Given the description of an element on the screen output the (x, y) to click on. 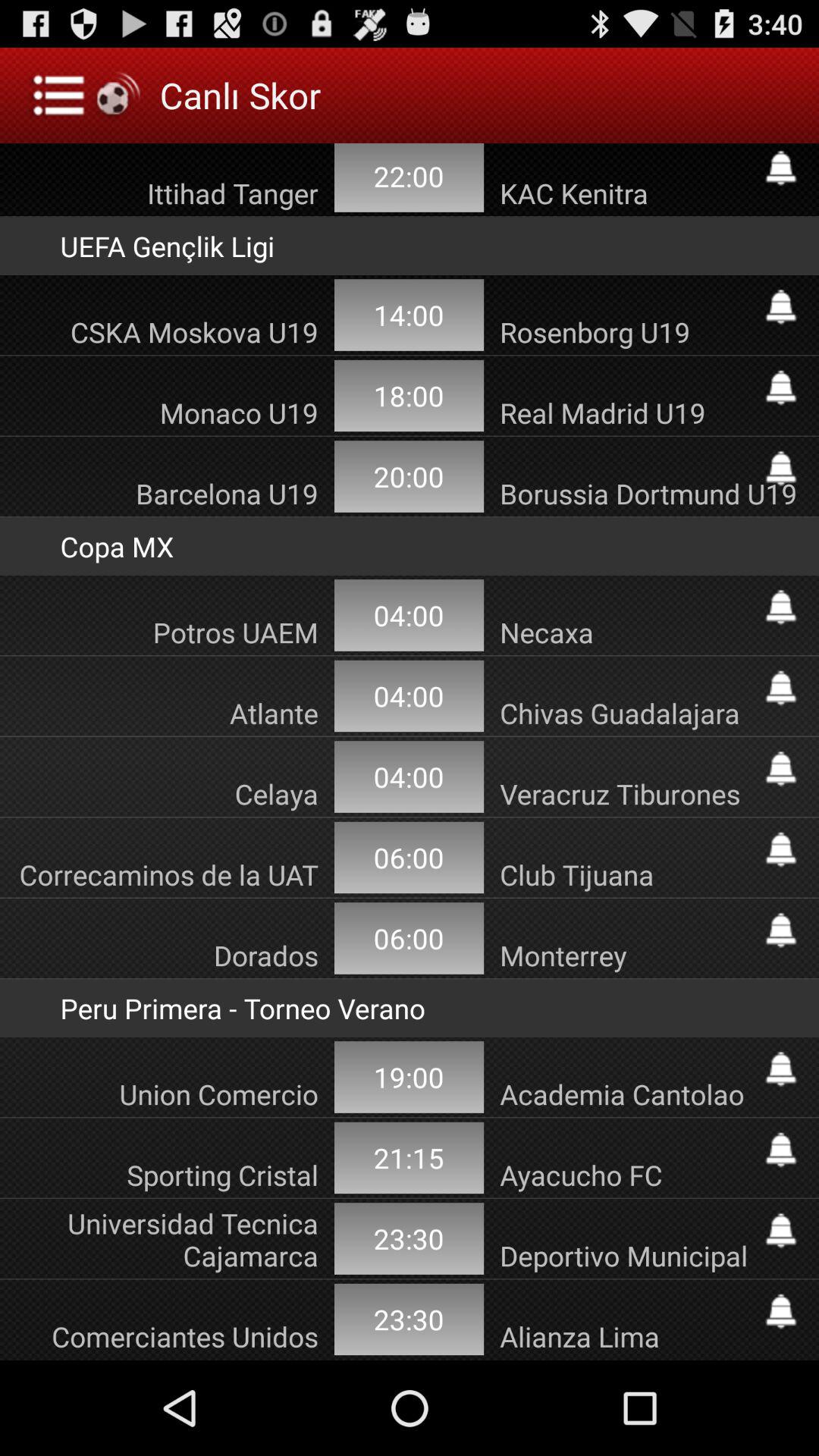
receive notifications for the game (780, 387)
